Given the description of an element on the screen output the (x, y) to click on. 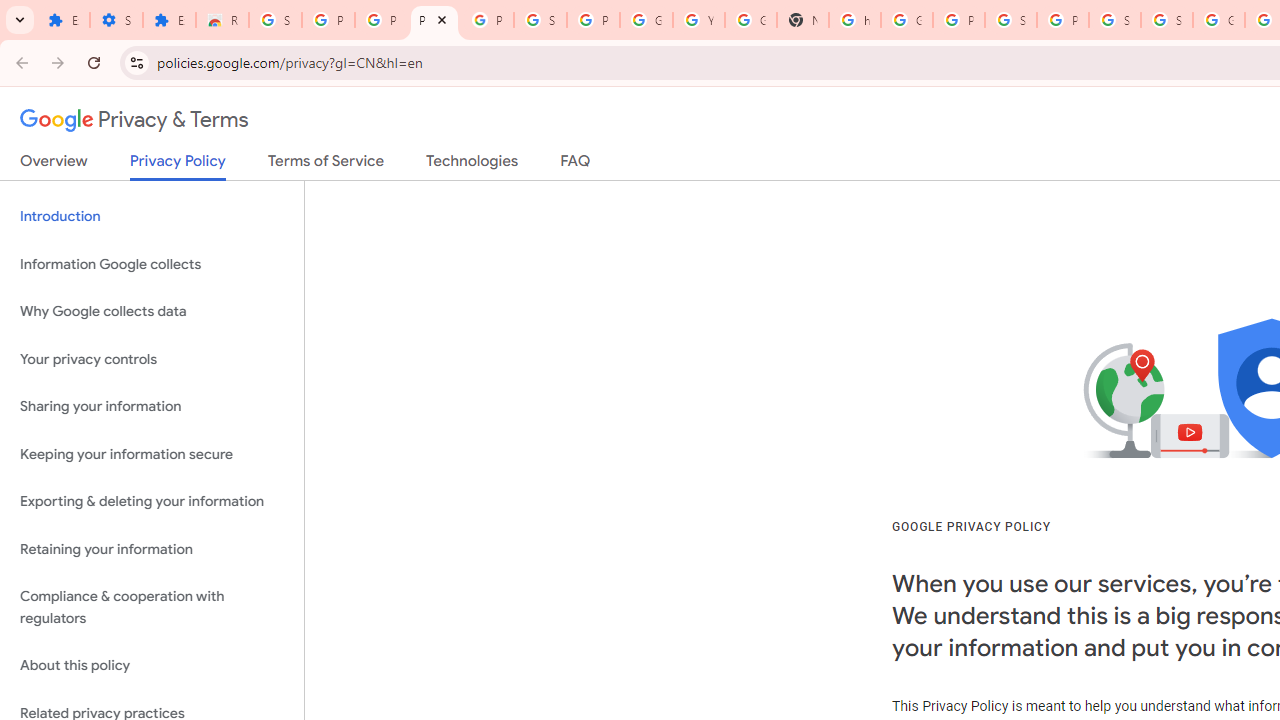
New Tab (803, 20)
Sign in - Google Accounts (540, 20)
Sign in - Google Accounts (1166, 20)
Keeping your information secure (152, 453)
Sign in - Google Accounts (275, 20)
Exporting & deleting your information (152, 502)
